Given the description of an element on the screen output the (x, y) to click on. 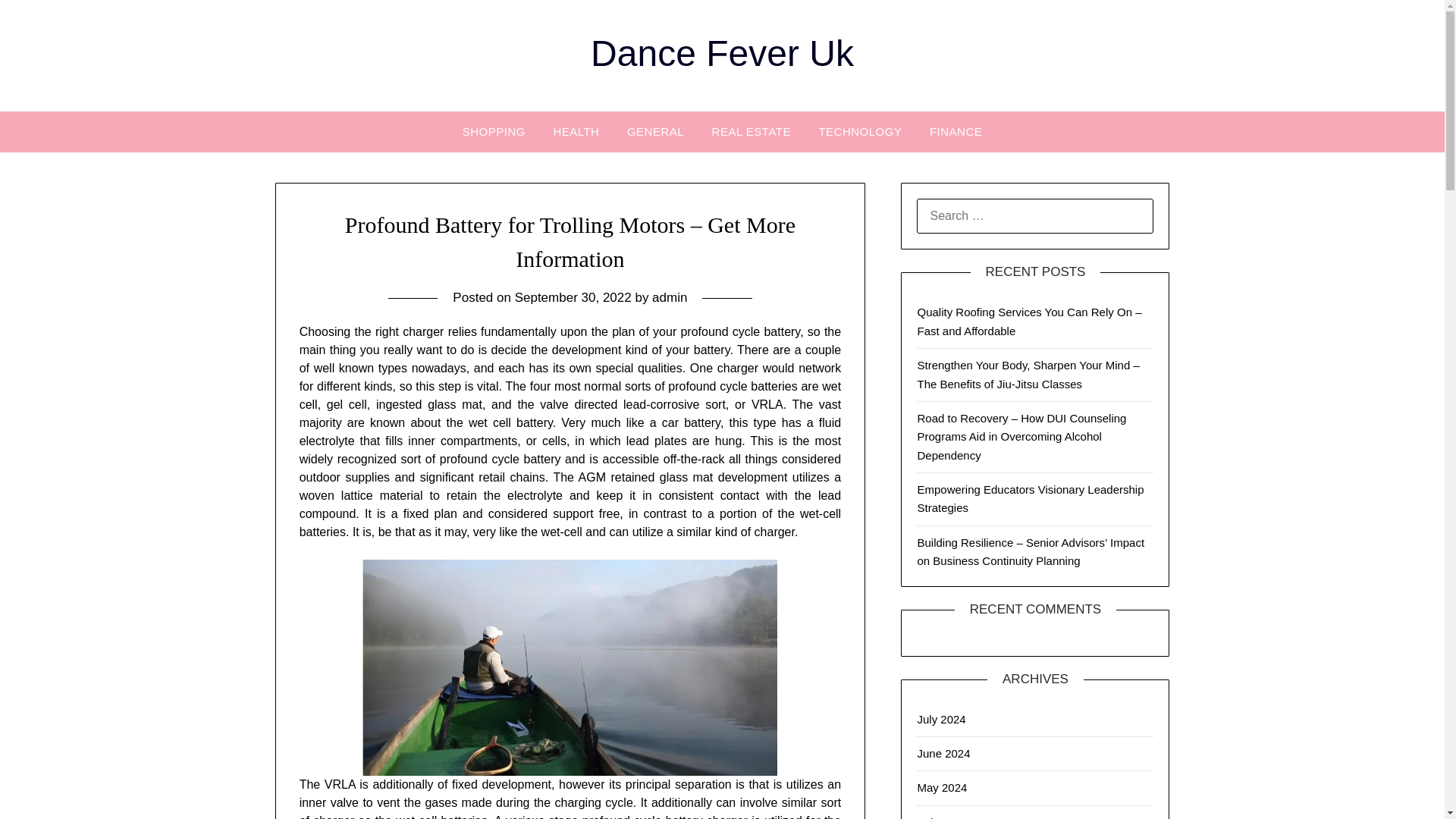
SHOPPING (493, 131)
May 2024 (941, 787)
HEALTH (575, 131)
GENERAL (654, 131)
REAL ESTATE (751, 131)
July 2024 (941, 718)
Empowering Educators Visionary Leadership Strategies (1029, 498)
admin (669, 297)
FINANCE (955, 131)
TECHNOLOGY (860, 131)
September 30, 2022 (573, 297)
Search (38, 22)
February 2024 (954, 817)
Dance Fever Uk (722, 53)
June 2024 (943, 753)
